Given the description of an element on the screen output the (x, y) to click on. 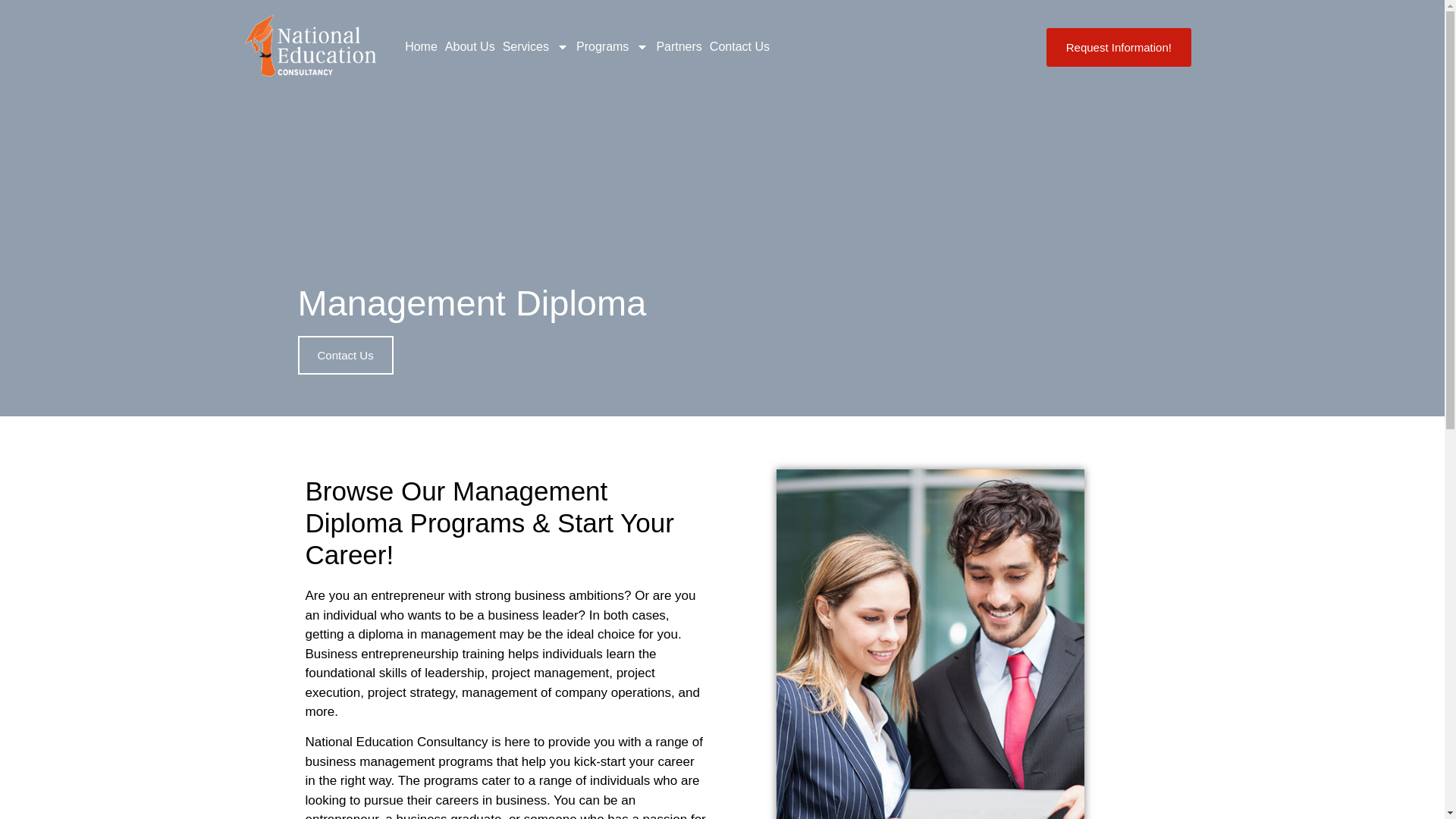
Partners (678, 46)
Contact Us (739, 46)
About Us (470, 46)
Home (421, 46)
Programs (612, 46)
Services (535, 46)
